Given the description of an element on the screen output the (x, y) to click on. 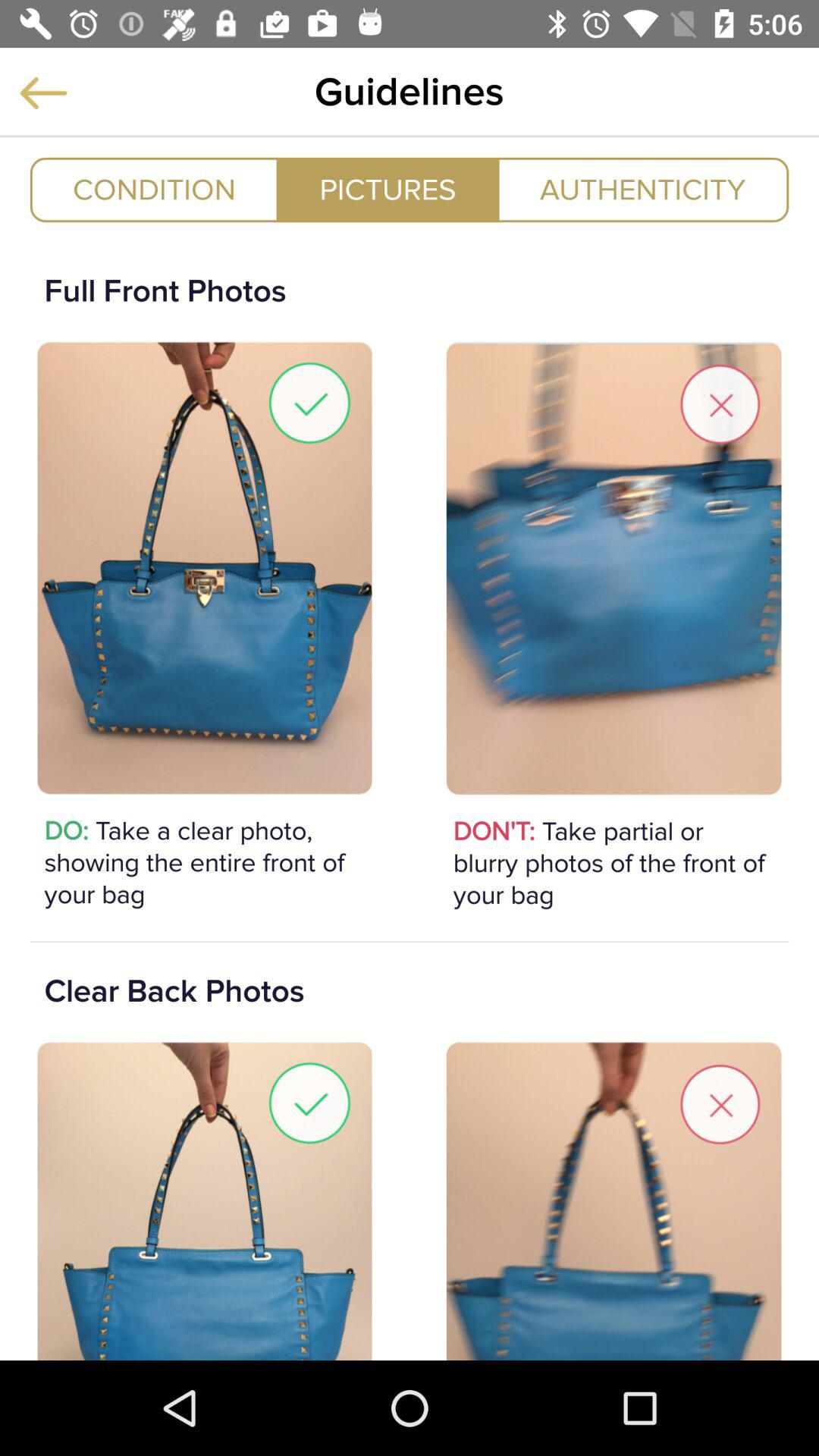
open icon at the top right corner (642, 189)
